Given the description of an element on the screen output the (x, y) to click on. 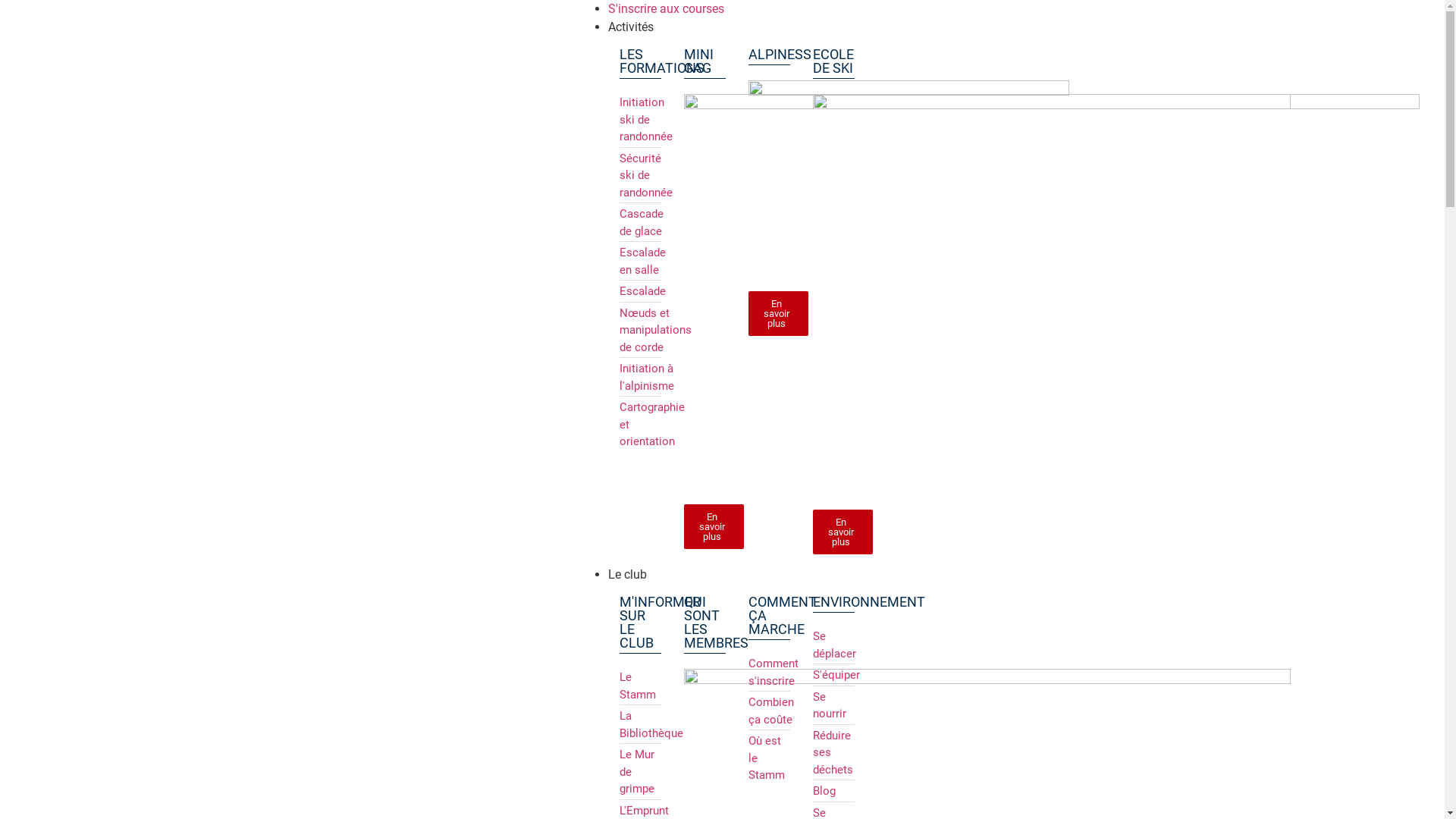
Blog Element type: text (833, 791)
En savoir plus Element type: text (778, 313)
Comment s'inscrire Element type: text (769, 672)
Se nourrir Element type: text (833, 705)
En savoir plus Element type: text (713, 526)
LES FORMATIONS Element type: text (661, 60)
ENVIRONNEMENT Element type: text (868, 601)
ALPINESS Element type: text (779, 54)
QUI SONT LES MEMBRES Element type: text (716, 621)
MINI GAG Element type: text (698, 60)
Le Mur de grimpe Element type: text (640, 771)
M'INFORMER SUR LE CLUB Element type: text (659, 621)
Escalade en salle Element type: text (640, 261)
S'inscrire aux courses Element type: text (666, 8)
Escalade Element type: text (640, 291)
Cartographie et orientation Element type: text (640, 424)
En savoir plus Element type: text (842, 531)
Le Stamm Element type: text (640, 685)
Cascade de glace Element type: text (640, 222)
